Given the description of an element on the screen output the (x, y) to click on. 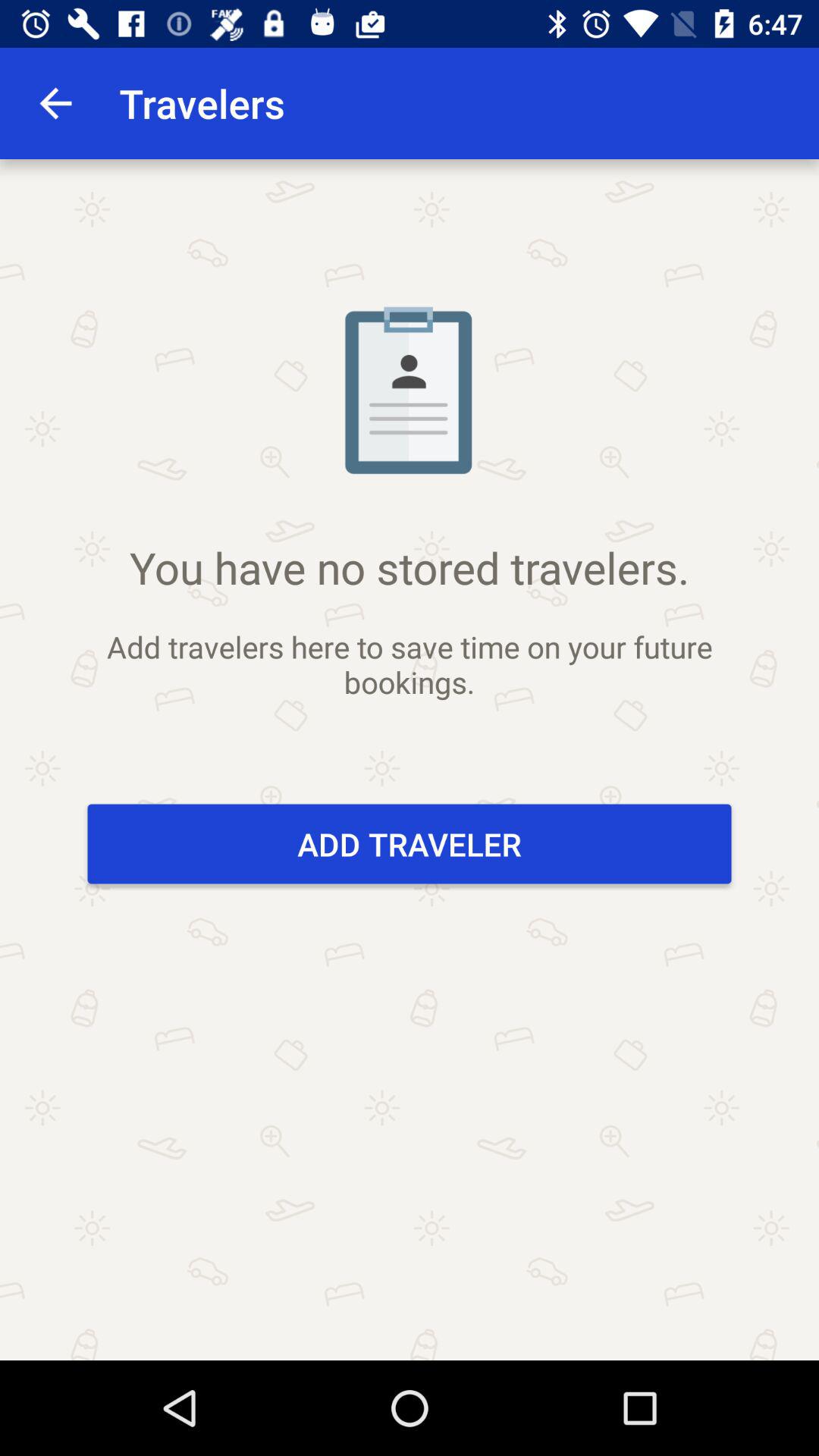
press icon below the add travelers here item (409, 843)
